Given the description of an element on the screen output the (x, y) to click on. 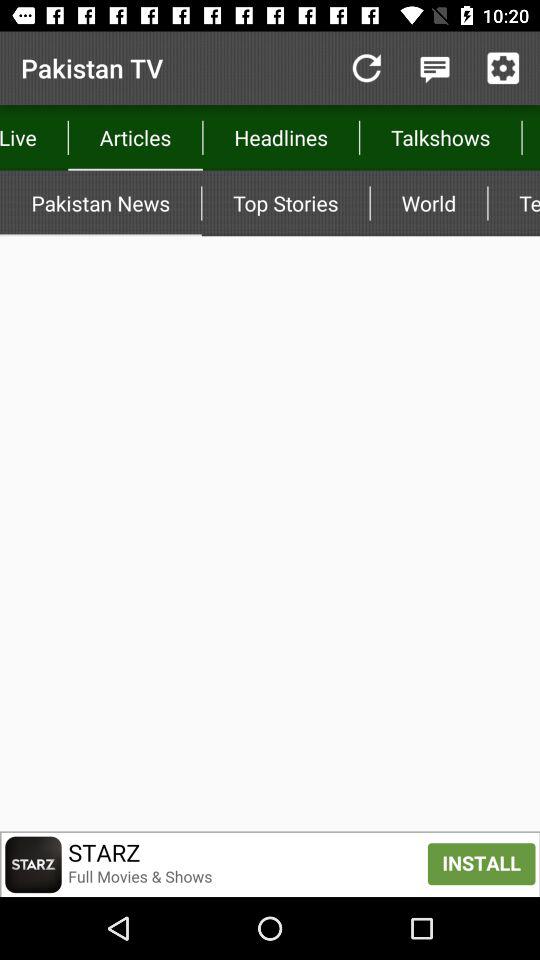
turn on the item next to the technology icon (428, 203)
